Given the description of an element on the screen output the (x, y) to click on. 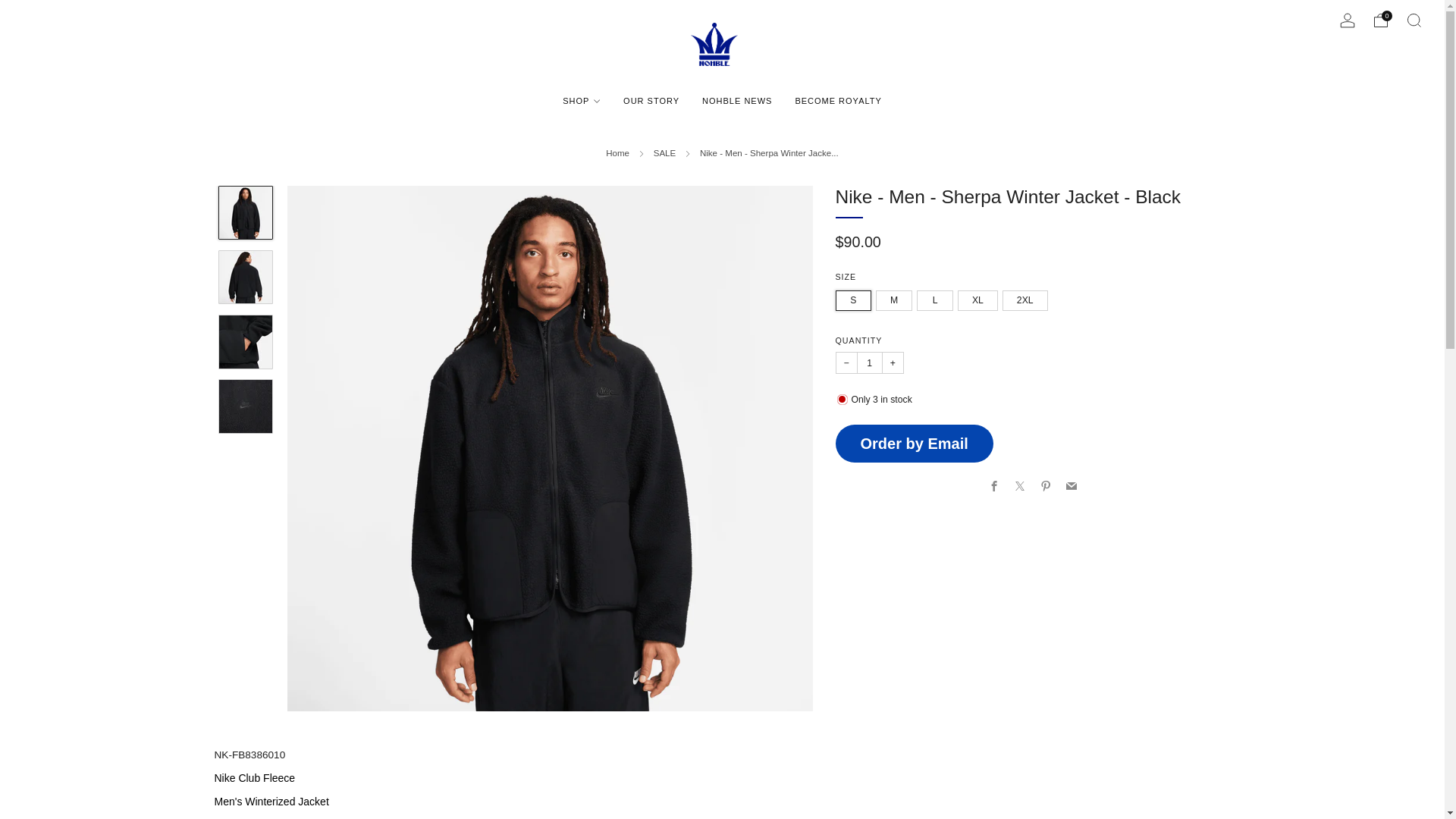
2XL (1027, 297)
SHOP (580, 100)
L (937, 297)
M (896, 297)
NOHBLE NEWS (736, 100)
XL (980, 297)
S (855, 297)
